Given the description of an element on the screen output the (x, y) to click on. 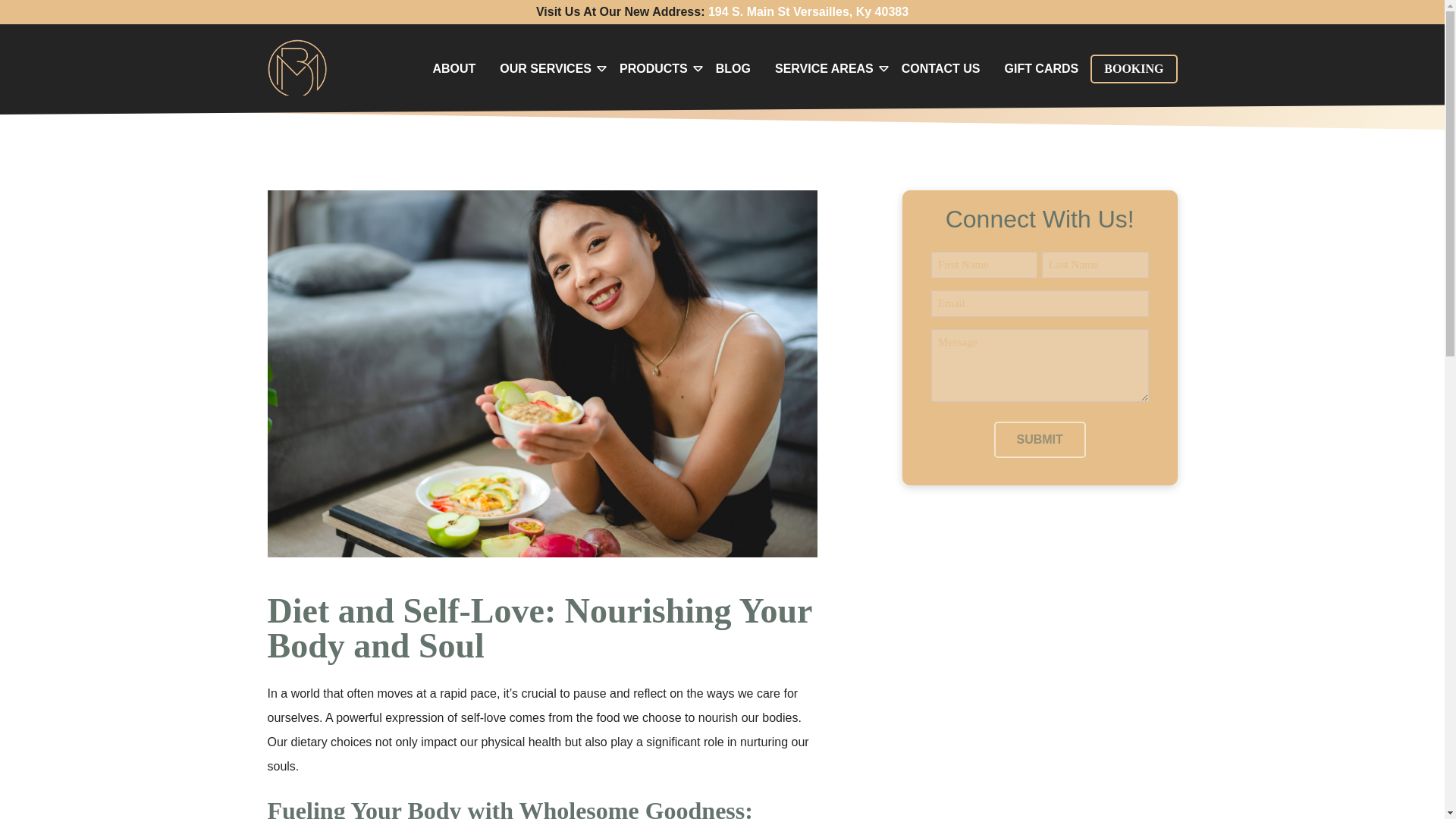
CONTACT US (940, 68)
GIFT CARDS (1040, 68)
OUR SERVICES (545, 68)
Submit (1038, 439)
ABOUT (453, 68)
BOOKING (1133, 68)
194 S. Main St Versailles, Ky 40383 (807, 11)
PRODUCTS (653, 68)
SERVICE AREAS (823, 68)
Submit (1038, 439)
BLOG (732, 68)
